Given the description of an element on the screen output the (x, y) to click on. 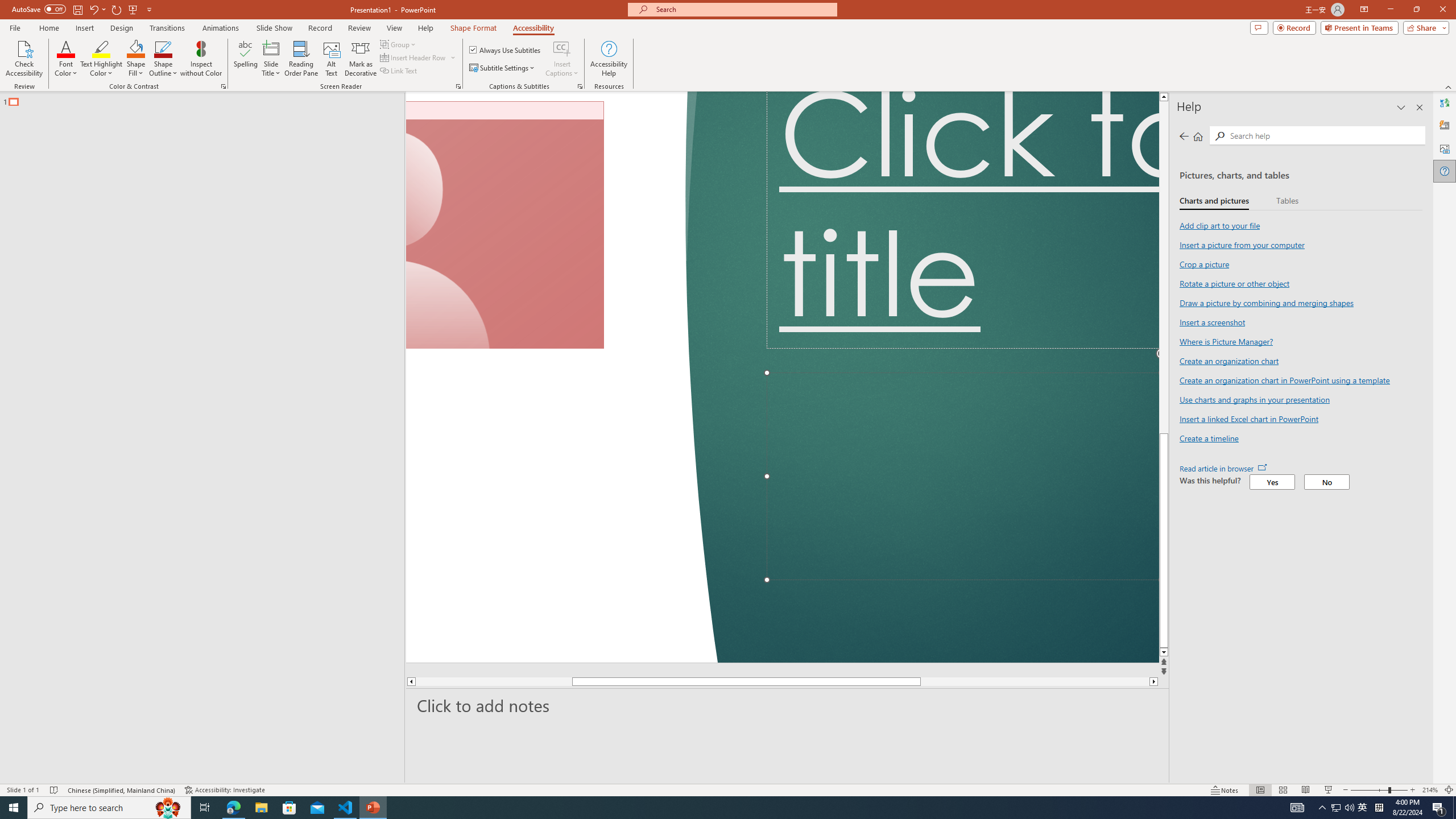
openinnewwindow icon (1261, 466)
Create an organization chart (1228, 360)
Slide Title (271, 48)
Add clip art to your file (1219, 225)
